Given the description of an element on the screen output the (x, y) to click on. 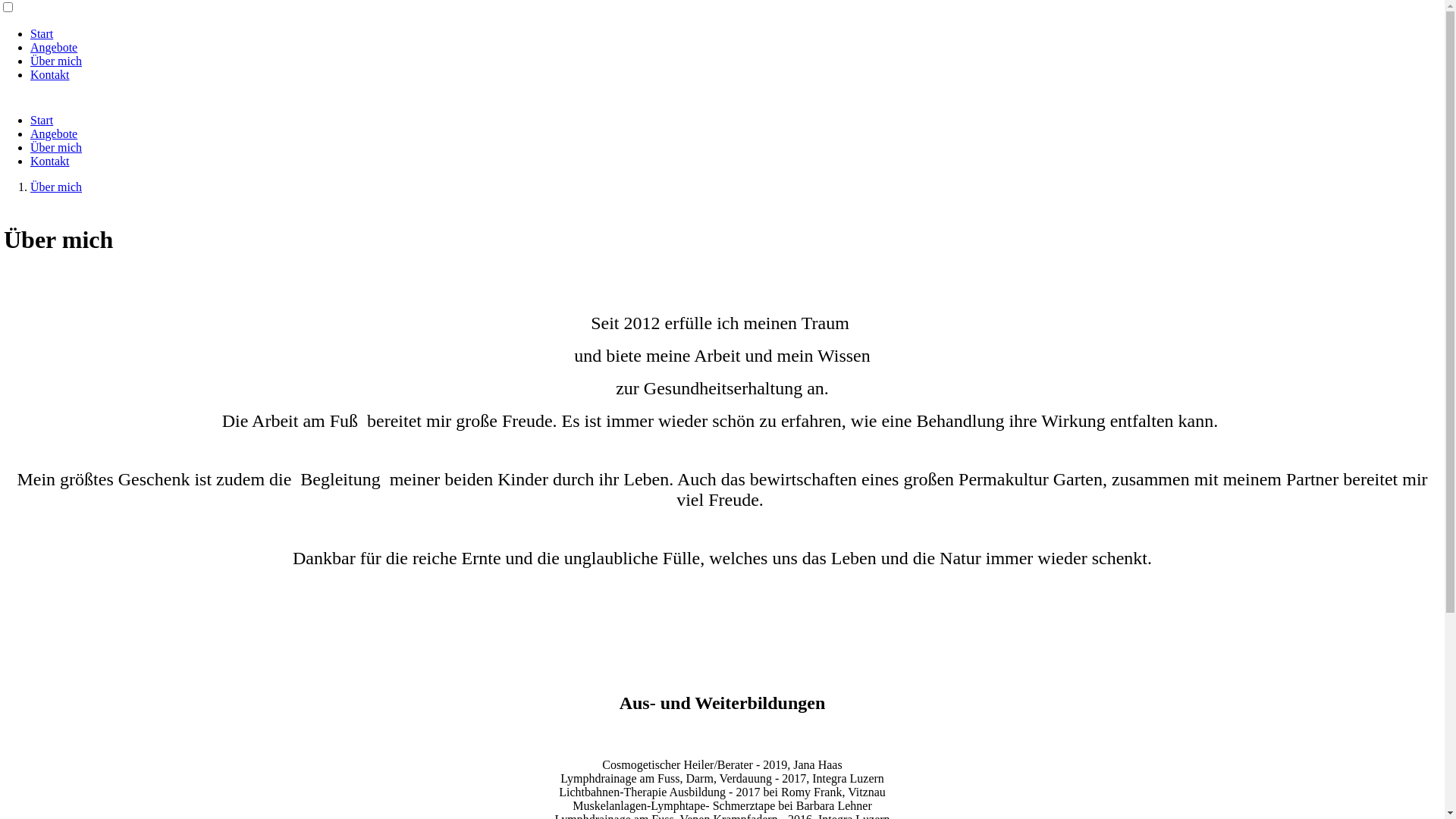
Angebote Element type: text (53, 46)
Angebote Element type: text (53, 133)
Start Element type: text (41, 33)
Kontakt Element type: text (49, 160)
Kontakt Element type: text (49, 74)
Start Element type: text (41, 119)
